Given the description of an element on the screen output the (x, y) to click on. 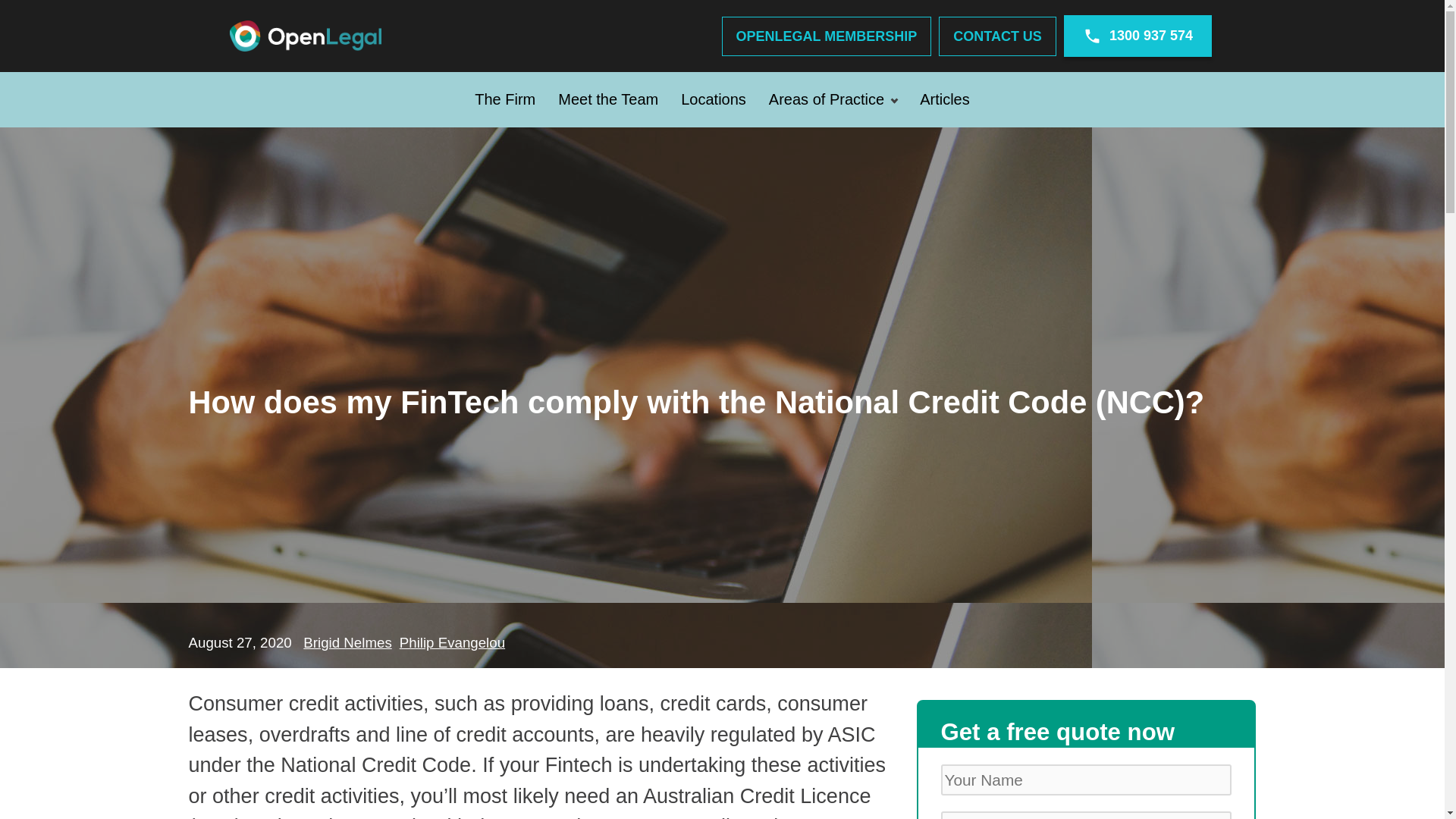
Locations (713, 99)
Meet the Team (608, 99)
Articles (944, 99)
1300 937 574 (1137, 35)
The Firm (505, 99)
CONTACT US (998, 36)
Areas of Practice (832, 99)
OPENLEGAL MEMBERSHIP (826, 36)
